Given the description of an element on the screen output the (x, y) to click on. 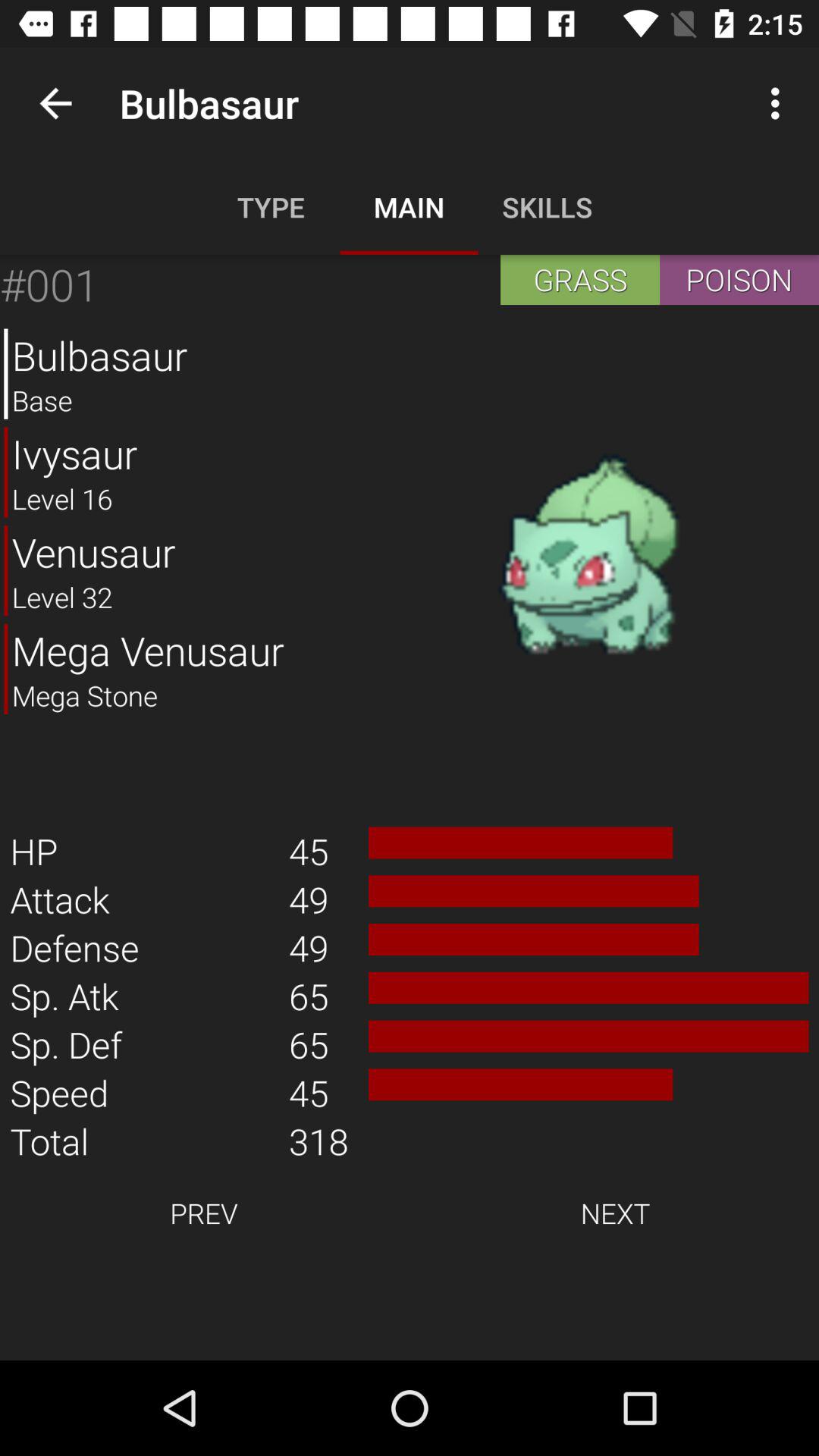
scroll to next icon (615, 1212)
